Given the description of an element on the screen output the (x, y) to click on. 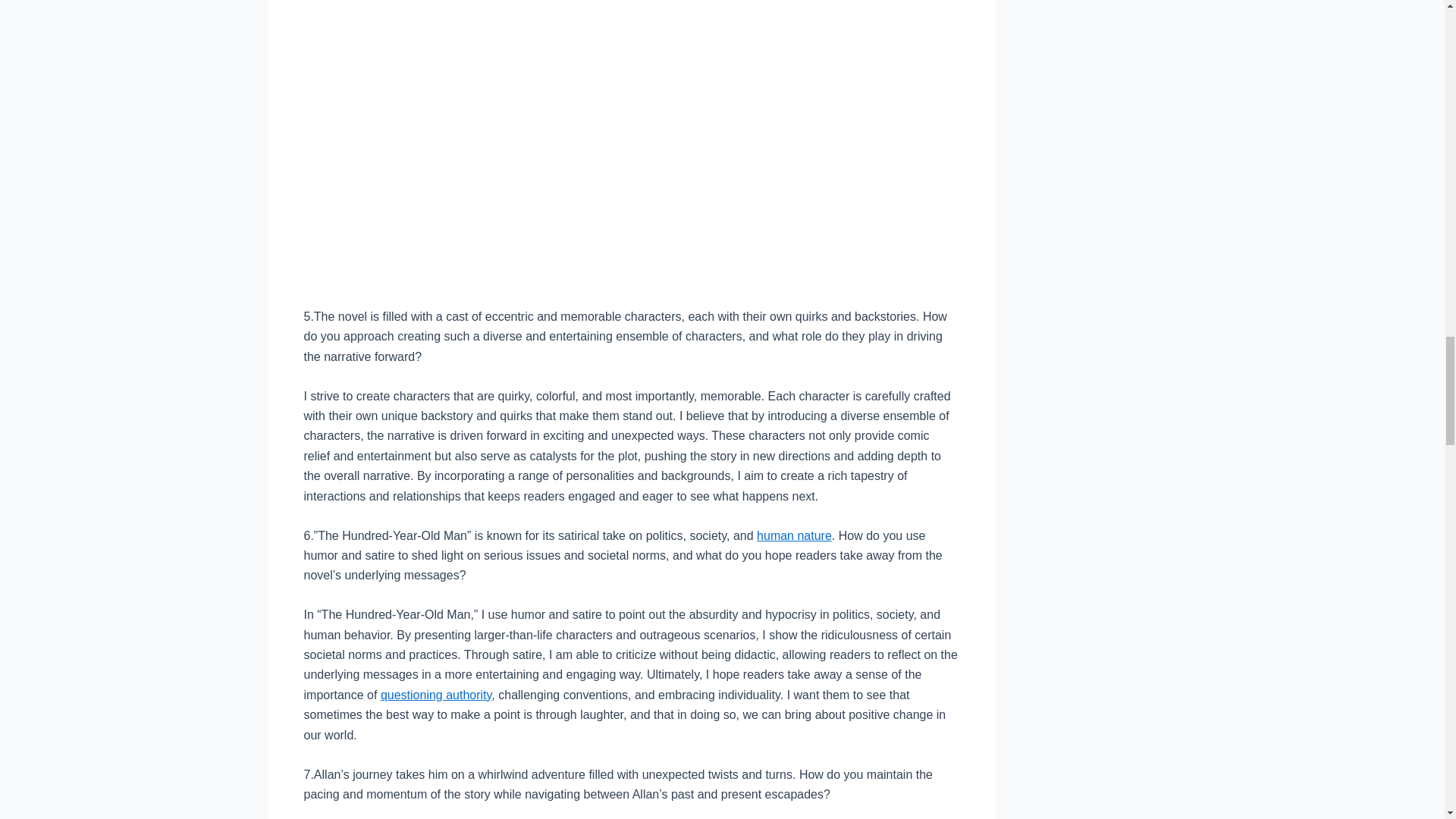
questioning authority (436, 694)
human nature (794, 535)
